Given the description of an element on the screen output the (x, y) to click on. 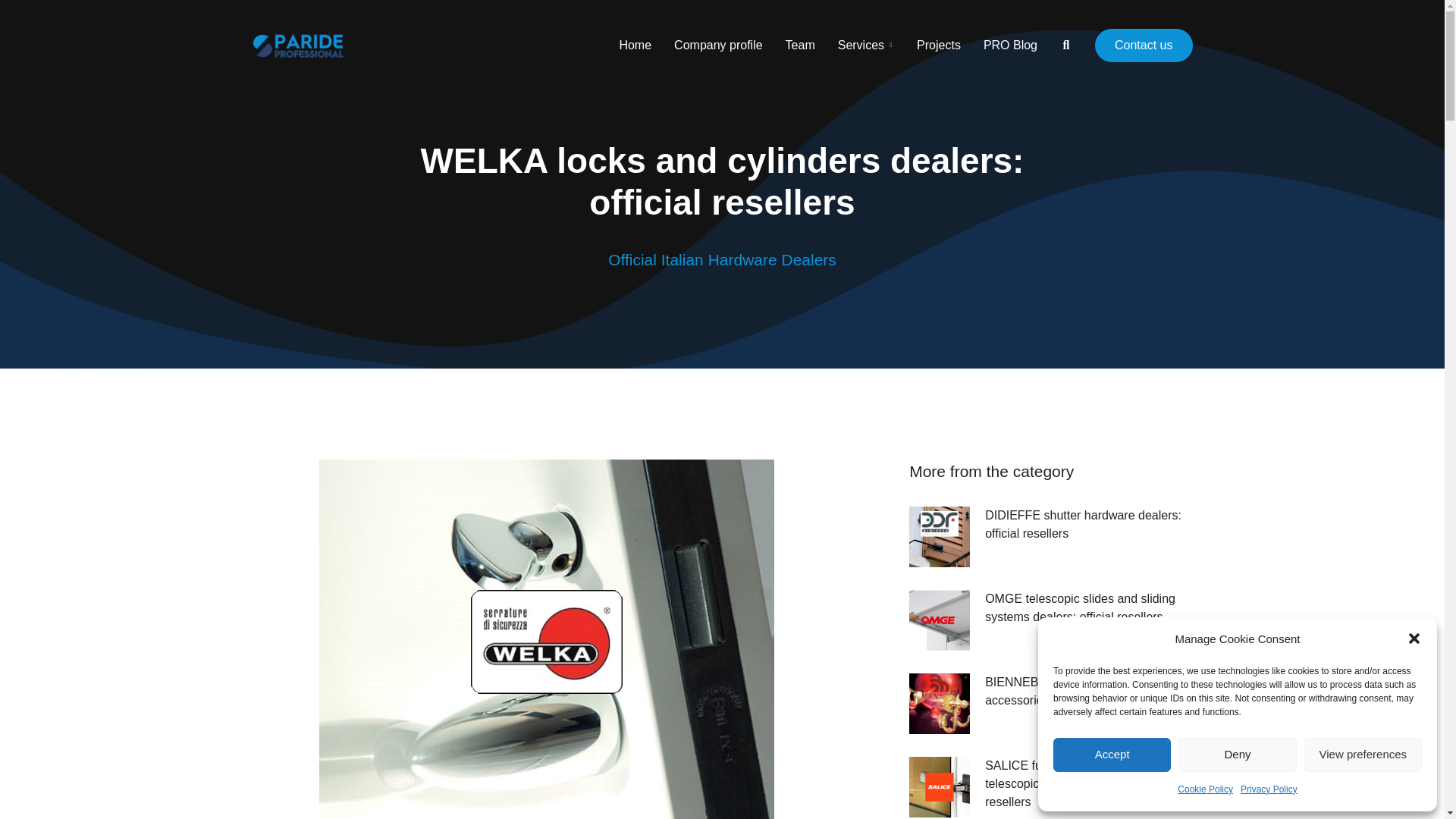
DIDIEFFE shutter hardware dealers: official resellers (1088, 524)
PRO Blog (1010, 45)
View preferences (1363, 754)
Team (800, 45)
Projects (938, 45)
Deny (1236, 754)
Cookie Policy (1205, 789)
Privacy Policy (1268, 789)
Company profile (718, 45)
Services (865, 45)
Accept (1111, 754)
Contact us (1143, 45)
